Given the description of an element on the screen output the (x, y) to click on. 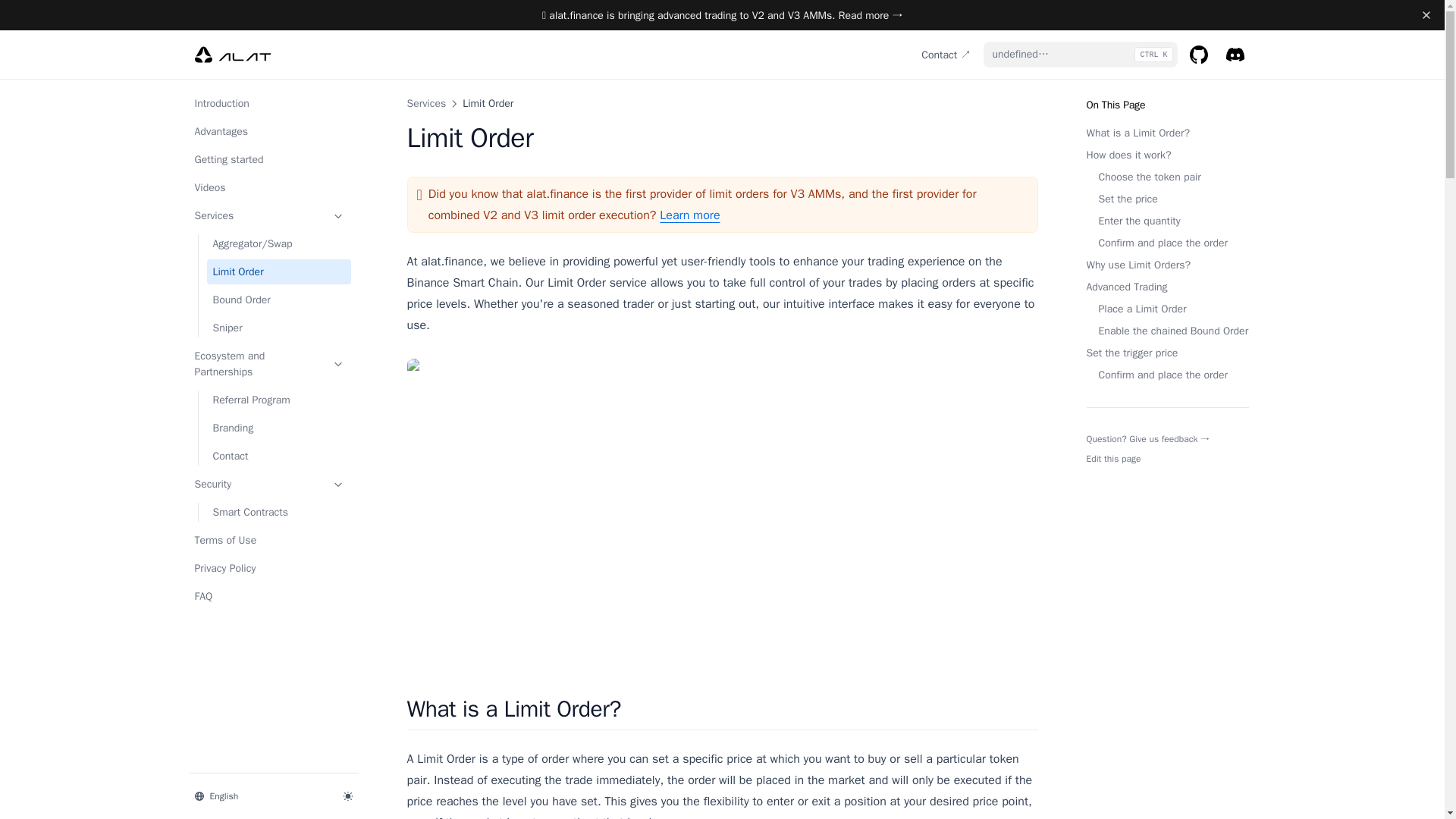
Set the trigger price (1166, 352)
Contact (278, 455)
Introduction (268, 103)
Getting started (268, 159)
Services (425, 103)
Branding (278, 427)
Security (268, 483)
Why use Limit Orders? (1166, 264)
Set the price (1166, 198)
Confirm and place the order (1166, 242)
